Given the description of an element on the screen output the (x, y) to click on. 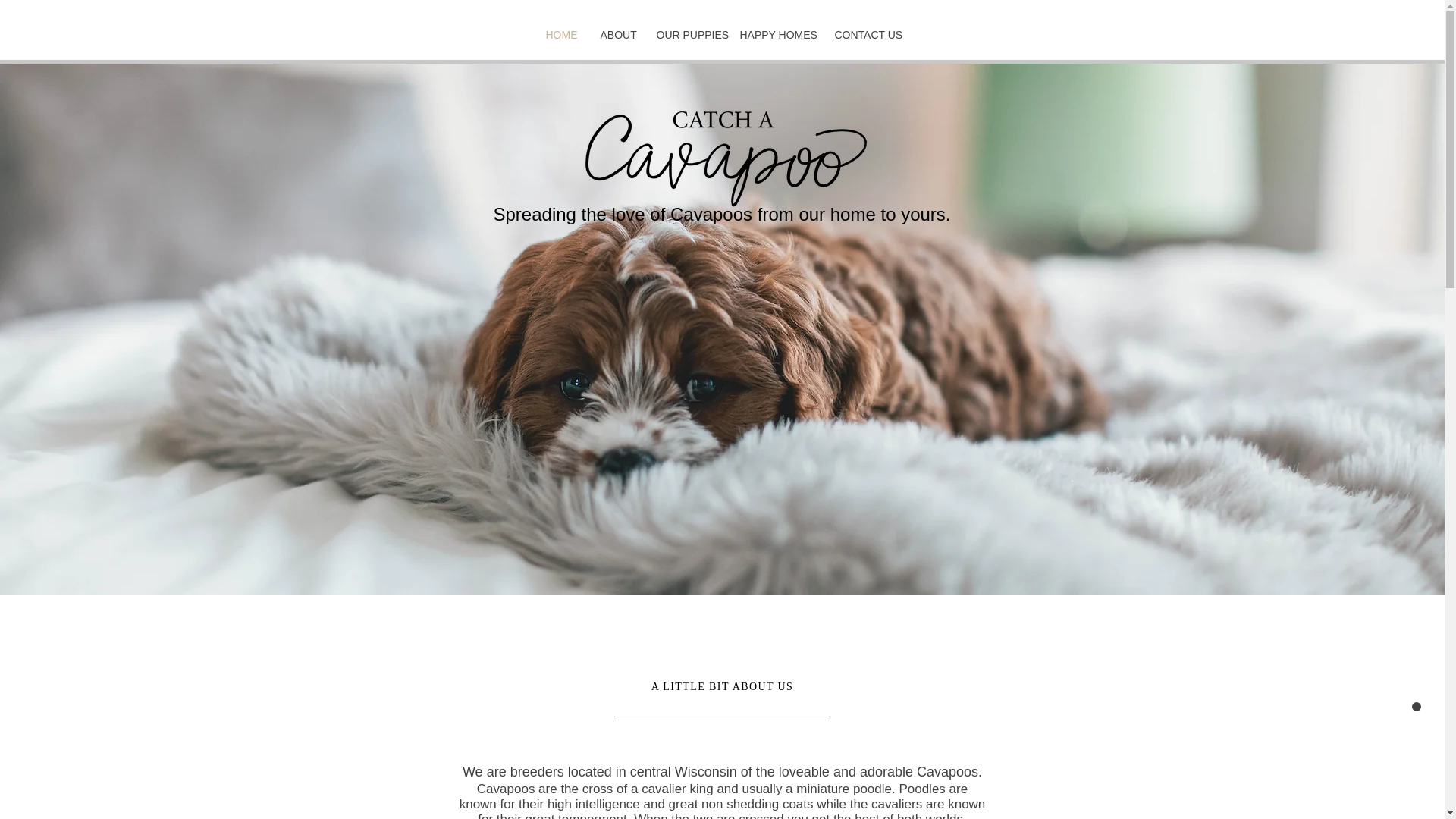
HOME (561, 34)
ABOUT (616, 34)
CONTACT US (867, 34)
HAPPY HOMES (775, 34)
OUR PUPPIES (686, 34)
